Given the description of an element on the screen output the (x, y) to click on. 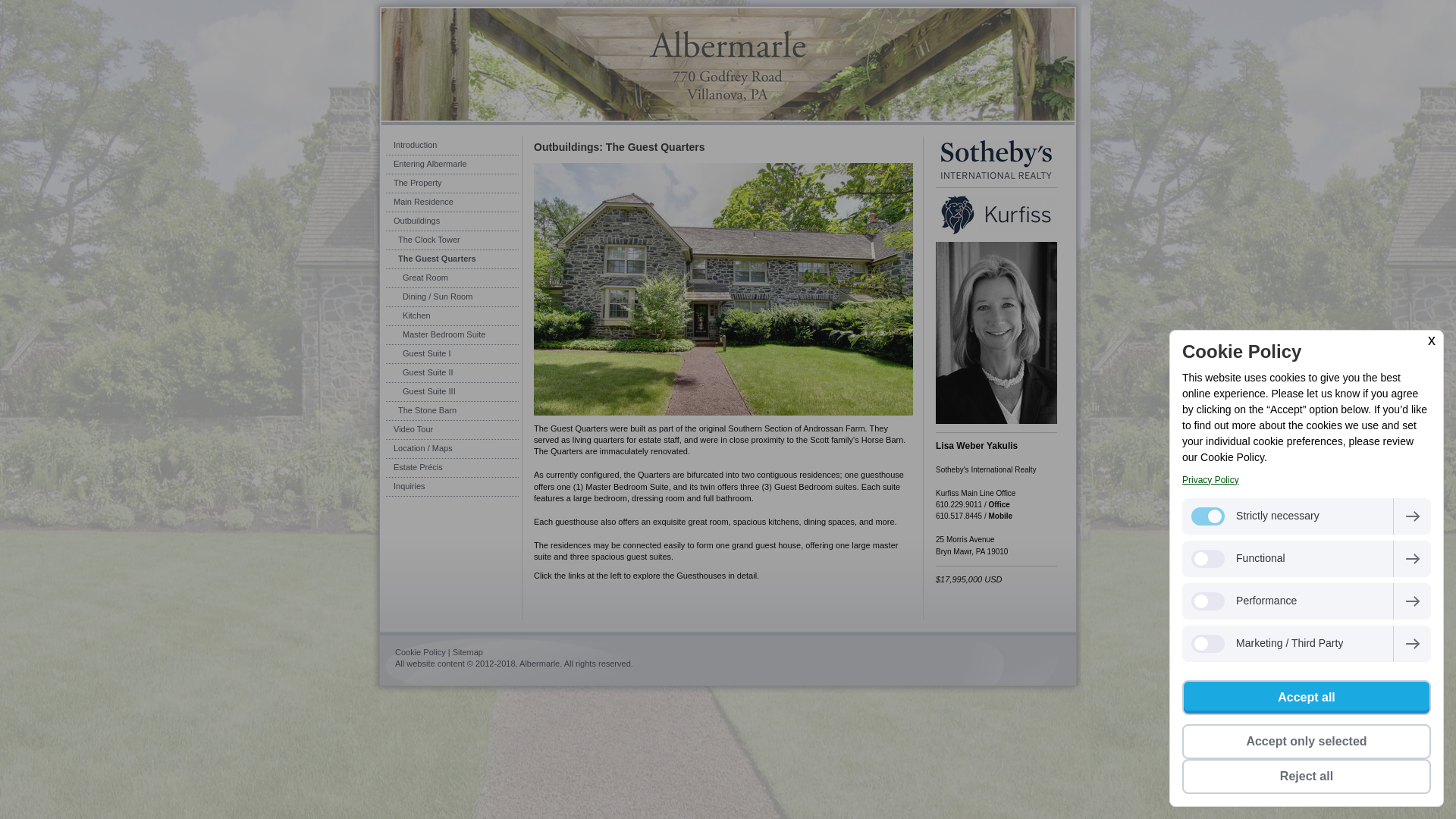
Master Bedroom Suite (451, 334)
The Property (451, 183)
Guest Suite I (451, 353)
Great Room (451, 278)
Main Residence (451, 202)
Privacy Policy (1210, 480)
Kitchen (451, 316)
Video Tour (451, 429)
Sitemap (467, 651)
Inquiries (451, 486)
Guest Suite III (451, 392)
Outbuildings (451, 221)
Cookie Policy (419, 651)
The Clock Tower (451, 240)
The Guest Quarters (451, 259)
